Given the description of an element on the screen output the (x, y) to click on. 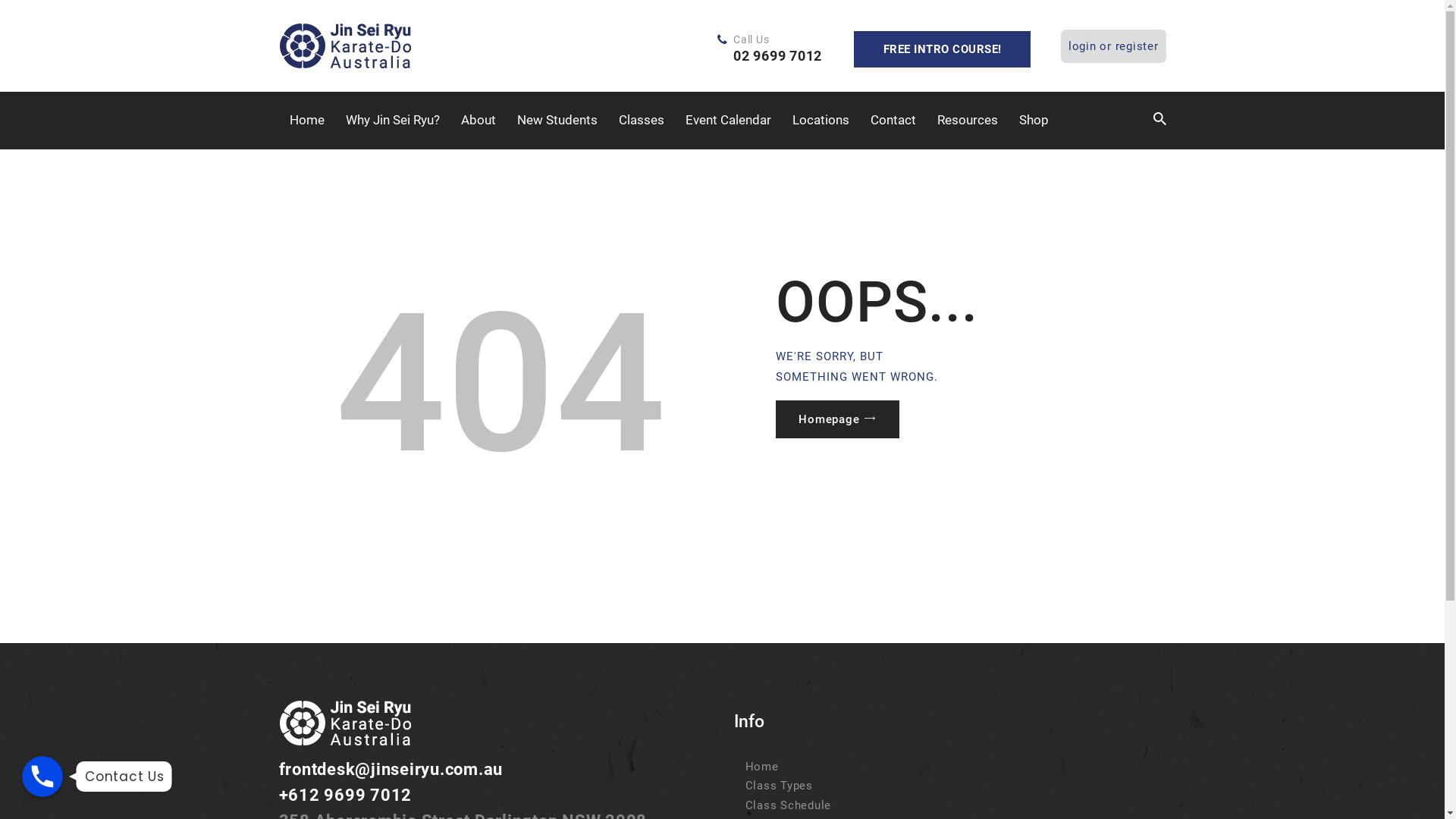
login or register Element type: text (1113, 46)
frontdesk@jinseiryu.com.au Element type: text (391, 768)
Home Element type: text (761, 766)
Class Types Element type: text (778, 785)
New Students Element type: text (557, 120)
Event Calendar Element type: text (727, 120)
About Element type: text (478, 120)
Call us Element type: text (41, 776)
FREE INTRO COURSE! Element type: text (941, 49)
Why Jin Sei Ryu? Element type: text (392, 120)
Classes Element type: text (641, 120)
Shop Element type: text (1033, 120)
Locations Element type: text (820, 120)
02 9699 7012 Element type: text (777, 55)
Class Schedule Element type: text (787, 804)
+612 9699 7012 Element type: text (345, 794)
Home Element type: text (307, 120)
Contact Element type: text (892, 120)
Resources Element type: text (967, 120)
Homepage Element type: text (836, 418)
